Given the description of an element on the screen output the (x, y) to click on. 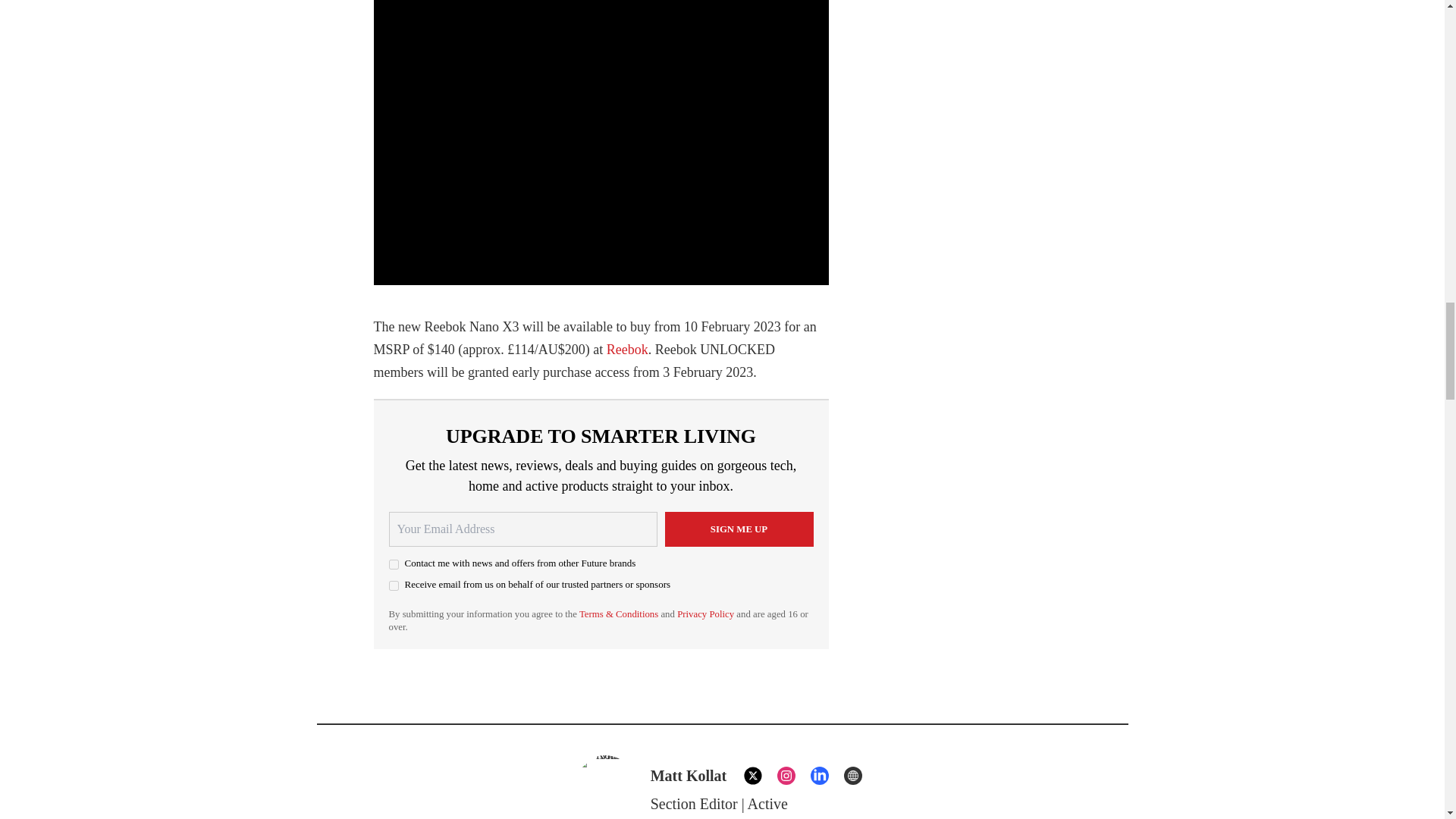
Sign me up (737, 529)
on (392, 585)
on (392, 564)
